Given the description of an element on the screen output the (x, y) to click on. 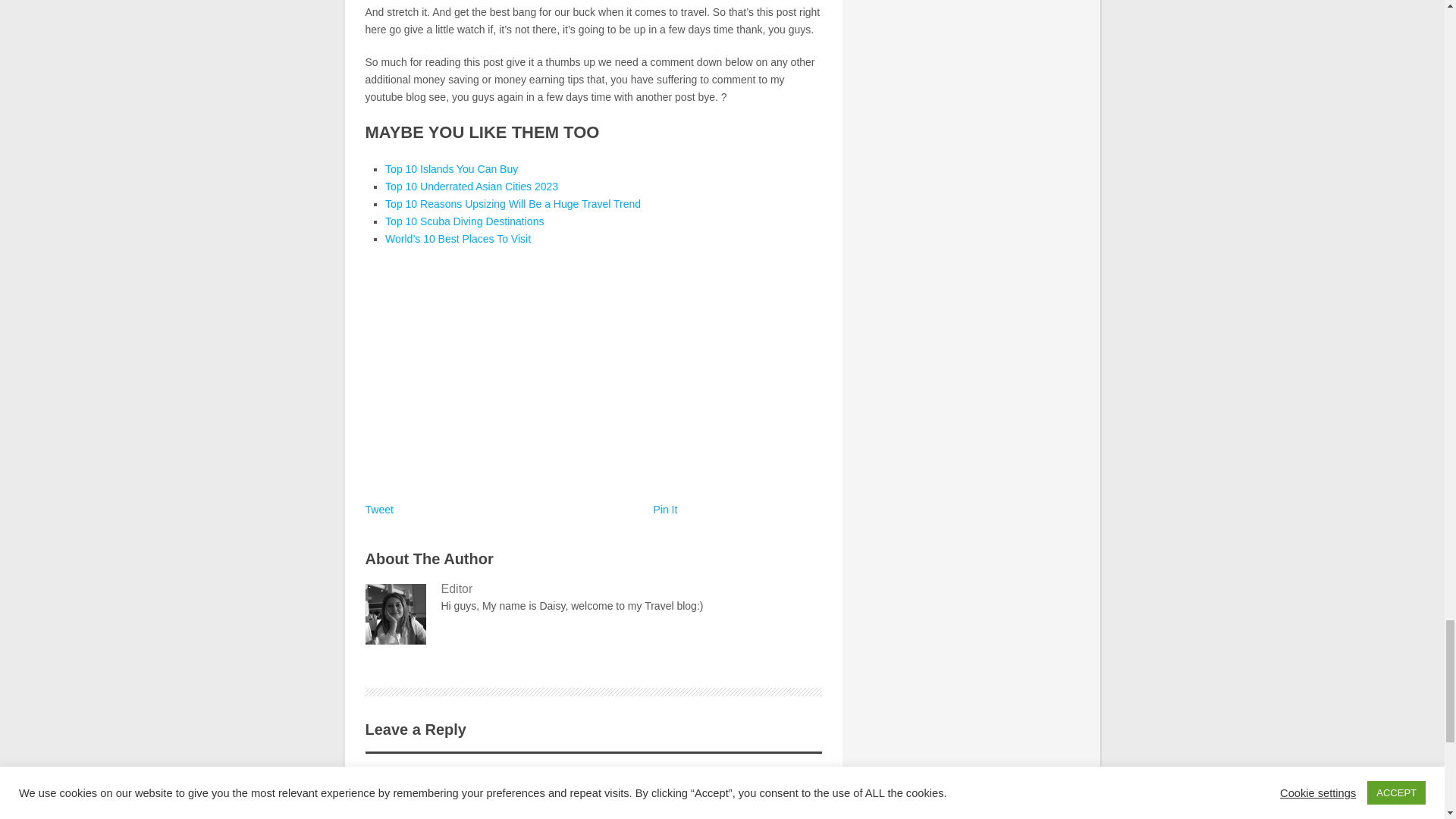
Top 10 Scuba Diving Destinations (464, 221)
Top 10 Islands You Can Buy (451, 168)
Top 10 Underrated Asian Cities 2023 (471, 186)
Top 10 Reasons Upsizing Will Be a Huge Travel Trend (512, 203)
